Given the description of an element on the screen output the (x, y) to click on. 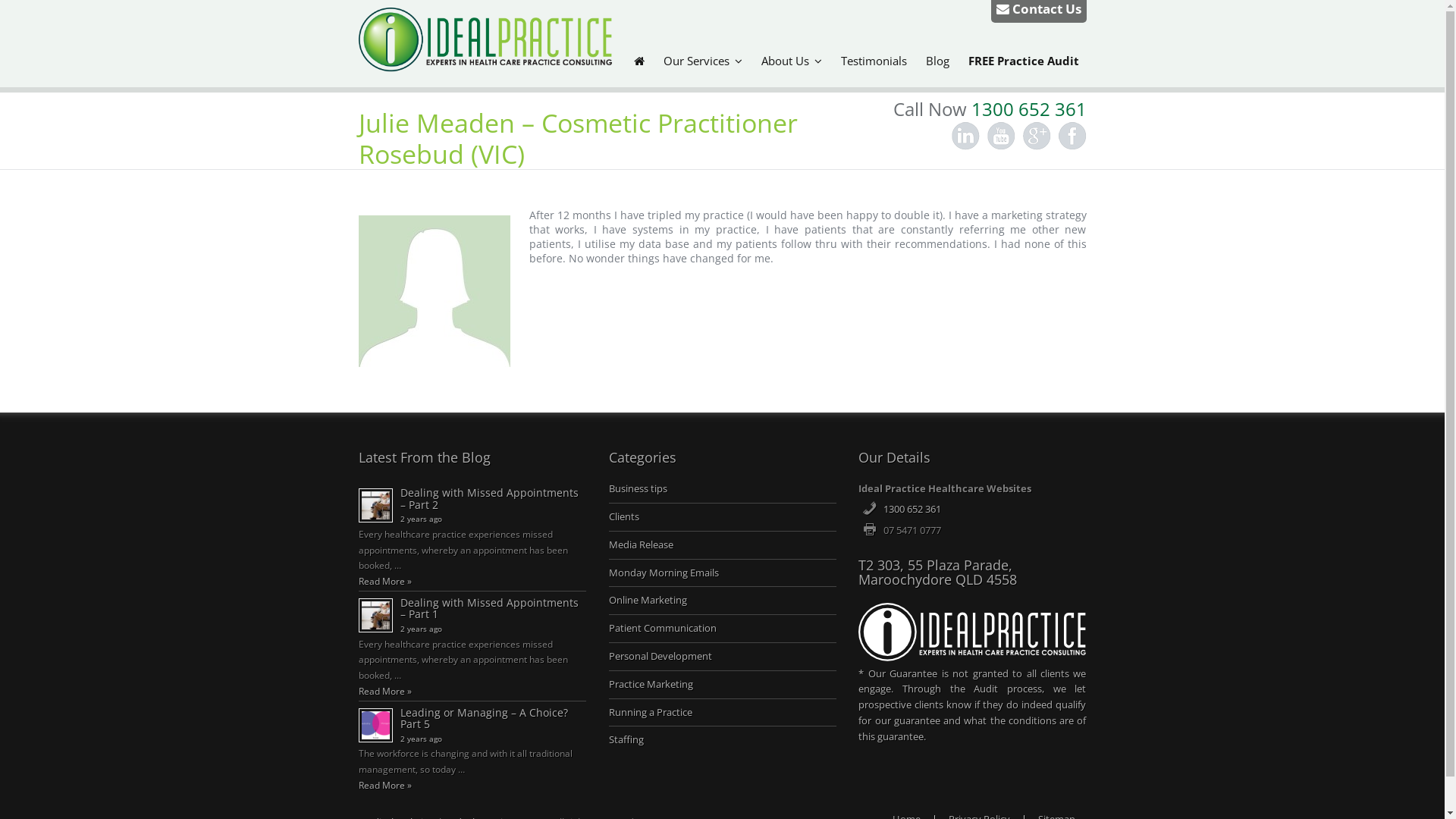
Business tips Element type: text (637, 488)
Online Marketing Element type: text (647, 600)
Clients Element type: text (623, 516)
Staffing Element type: text (625, 739)
1300 652 361 Element type: text (911, 509)
Personal Development Element type: text (660, 656)
FREE Practice Audit Element type: text (1022, 60)
1300 652 361 Element type: text (1027, 109)
Running a Practice Element type: text (650, 712)
1300 652 361 Element type: text (912, 509)
Testimonials Element type: text (872, 60)
Patient Communication Element type: text (662, 628)
Practice Marketing Element type: text (650, 684)
Media Release Element type: text (640, 544)
Monday Morning Emails Element type: text (663, 572)
Ideal Practice Element type: hover (484, 60)
Our Services Element type: text (702, 60)
no-photo-f Element type: hover (433, 291)
Blog Element type: text (936, 60)
About Us Element type: text (791, 60)
